Given the description of an element on the screen output the (x, y) to click on. 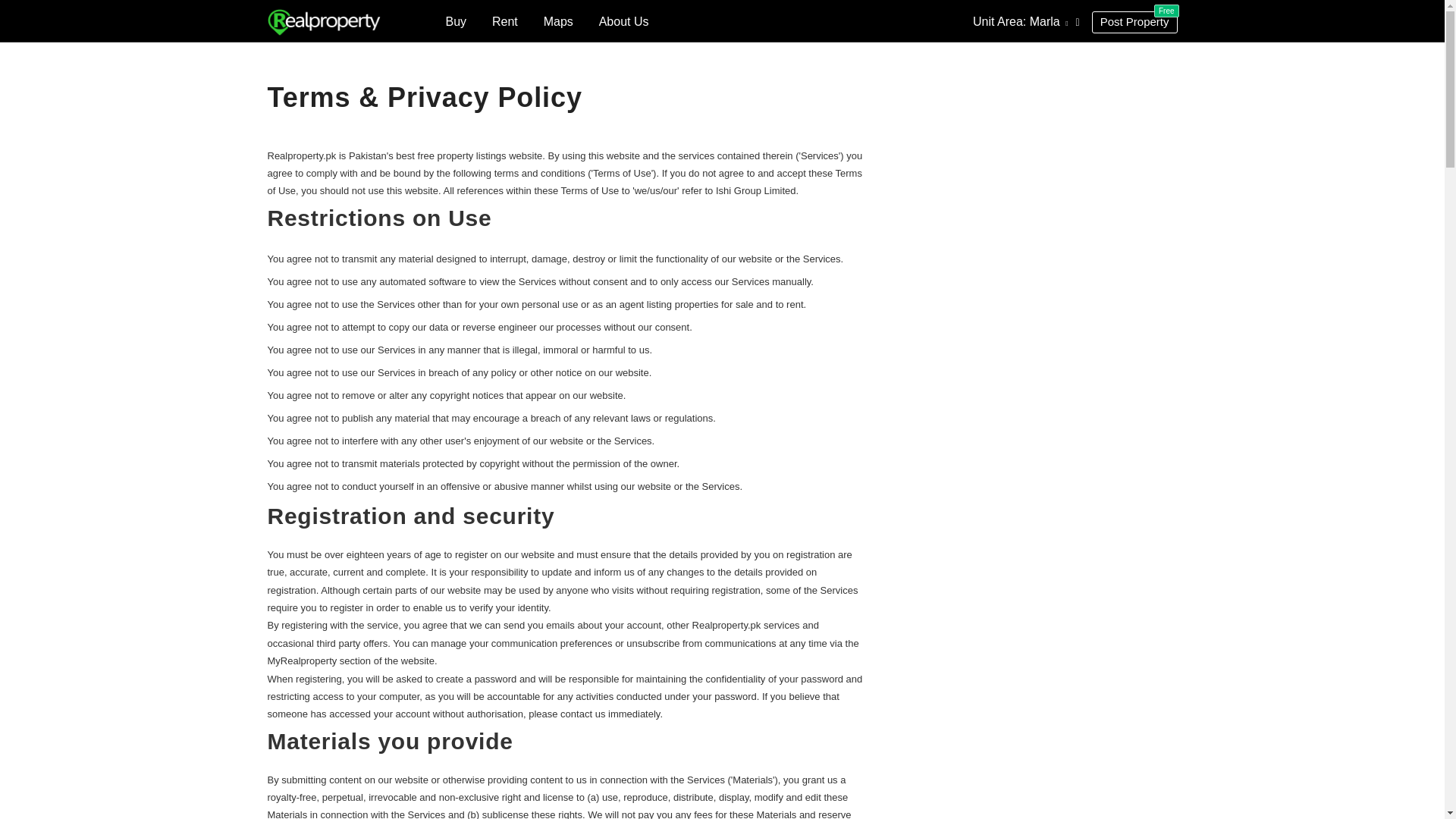
Rent (505, 21)
Maps (1134, 22)
Marla (558, 21)
Buy (1048, 21)
About Us (456, 21)
